Given the description of an element on the screen output the (x, y) to click on. 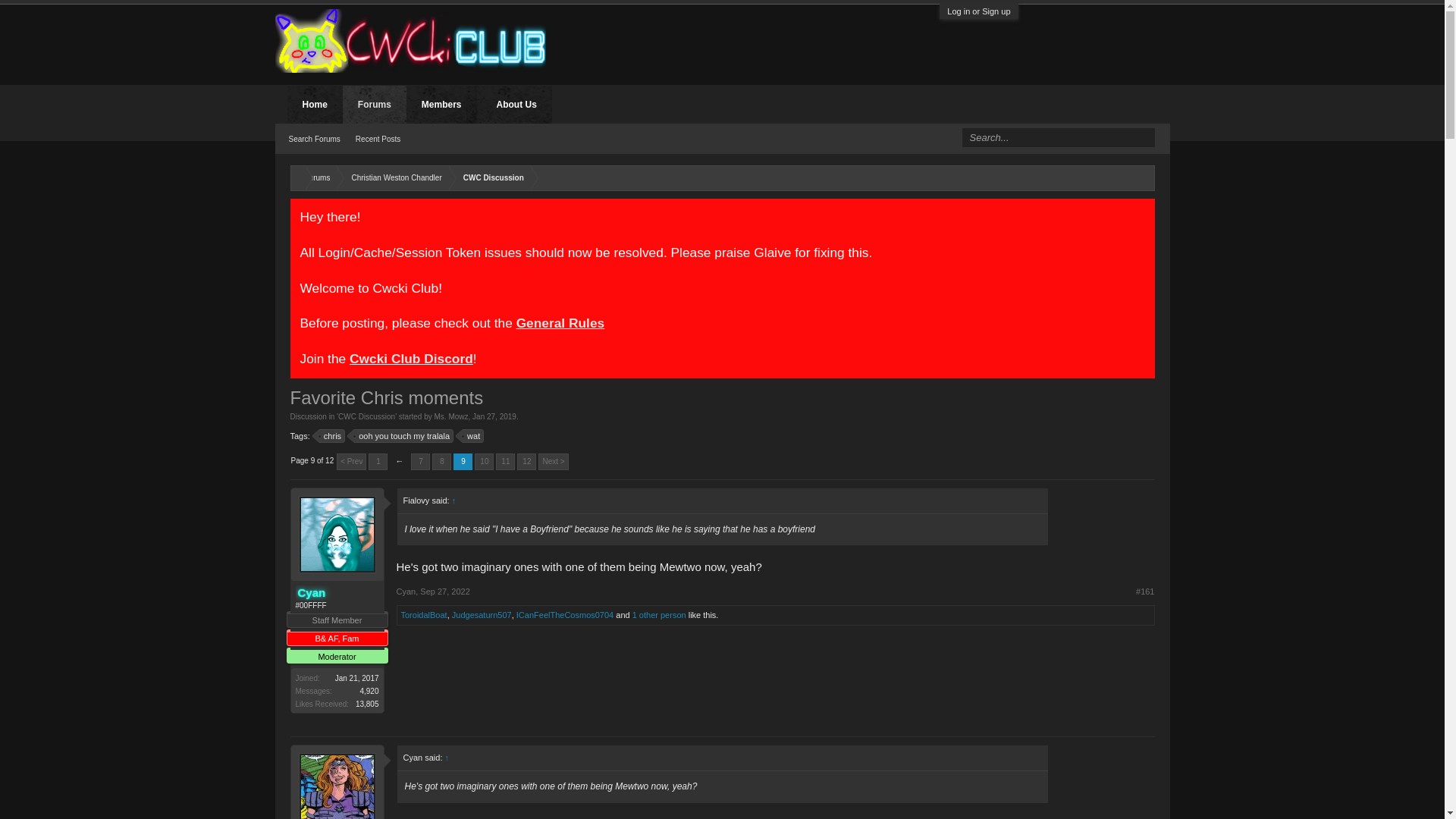
wat (473, 436)
Jan 27, 2019 (493, 416)
8 (441, 461)
Forums (314, 178)
Cwcki Club Discord (411, 358)
Open quick navigation (1141, 175)
1 other person (462, 461)
Ms. Mowz (658, 614)
Judgesaturn507 (450, 416)
1 (481, 614)
Christian Weston Chandler (377, 461)
10 (392, 178)
chris (483, 461)
4,920 (331, 436)
